Given the description of an element on the screen output the (x, y) to click on. 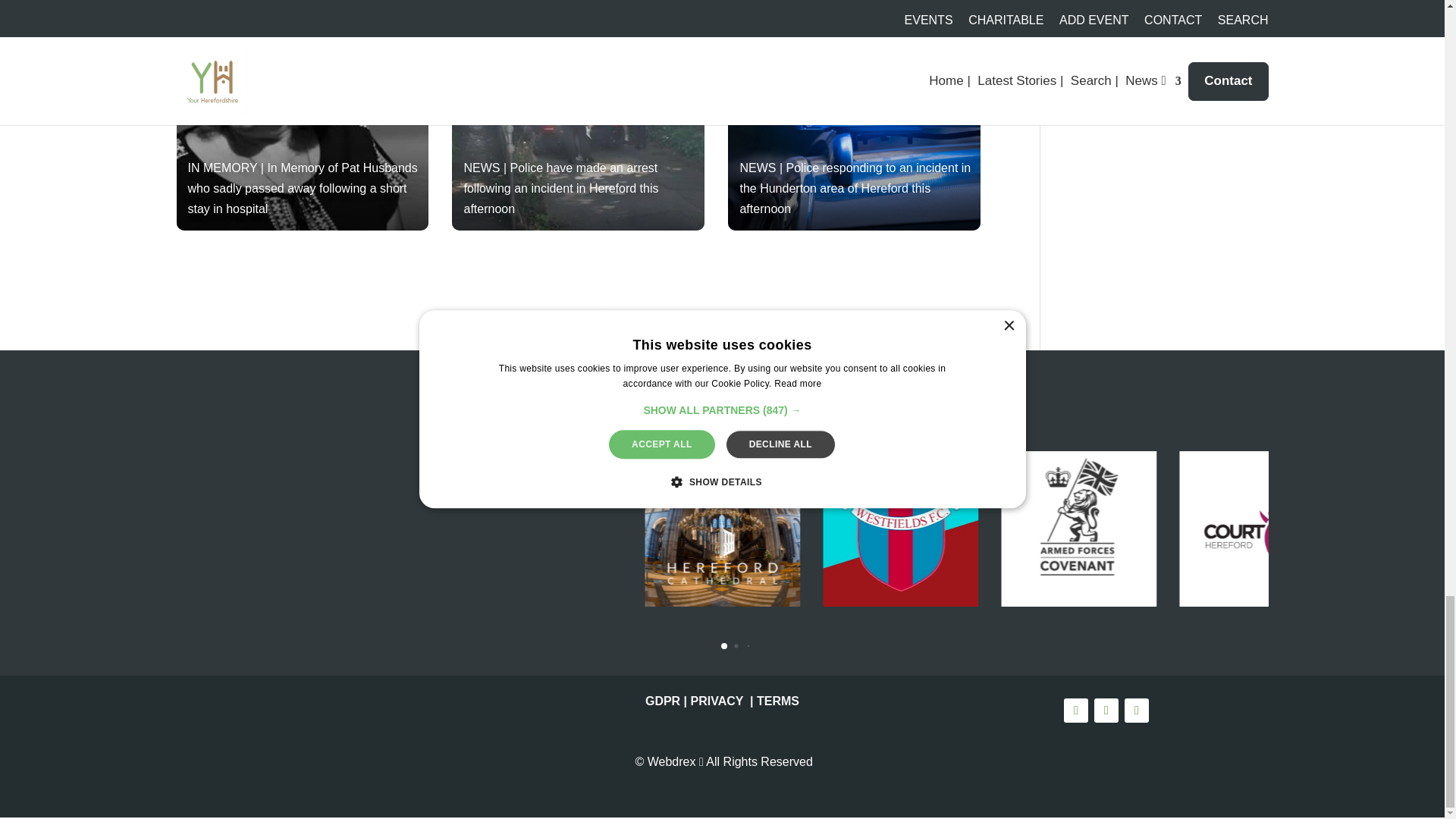
Follow on X (1106, 710)
Follow on Facebook (1075, 710)
Follow on Instagram (1136, 710)
